Given the description of an element on the screen output the (x, y) to click on. 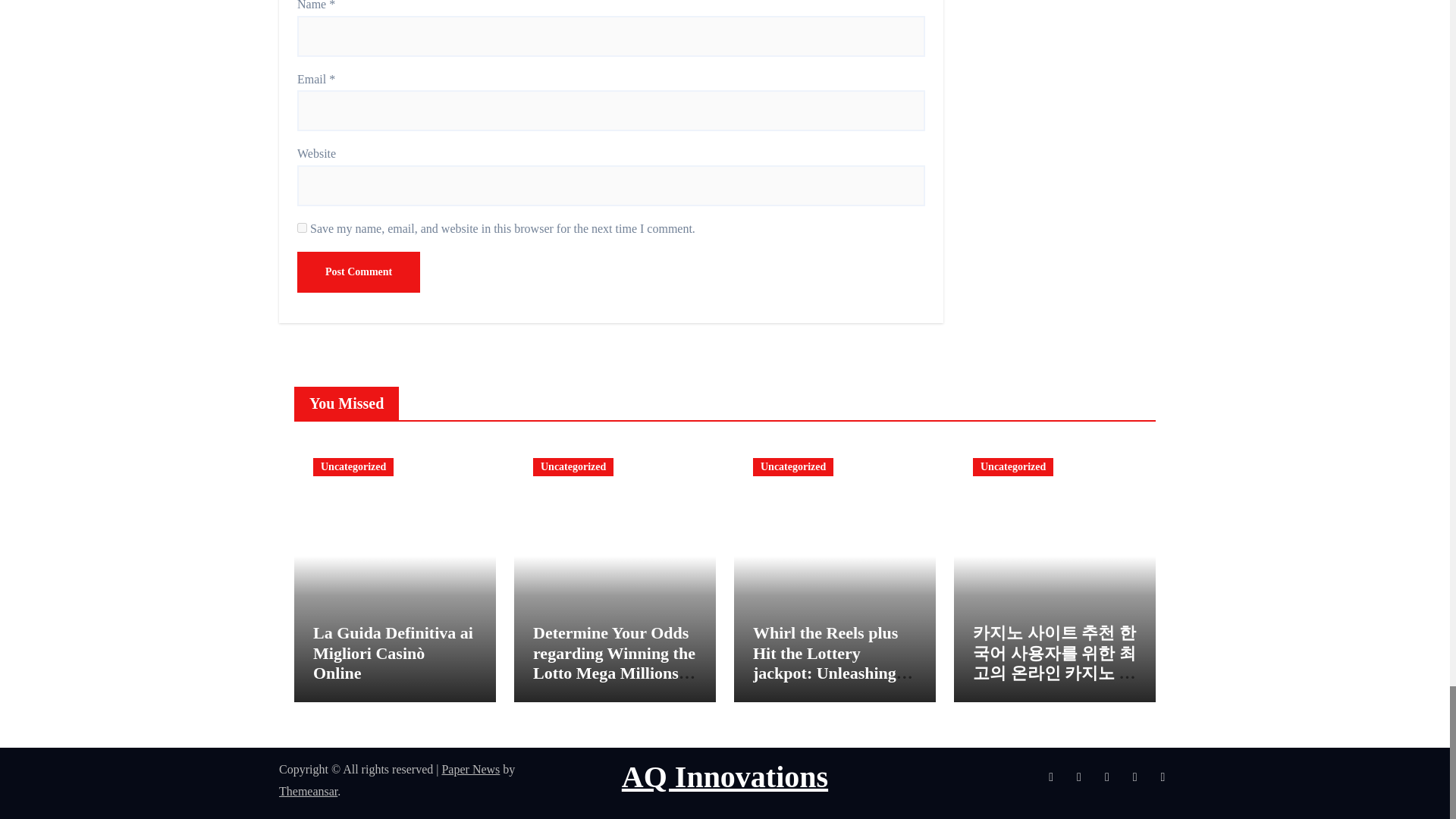
yes (302, 227)
Post Comment (358, 271)
